Given the description of an element on the screen output the (x, y) to click on. 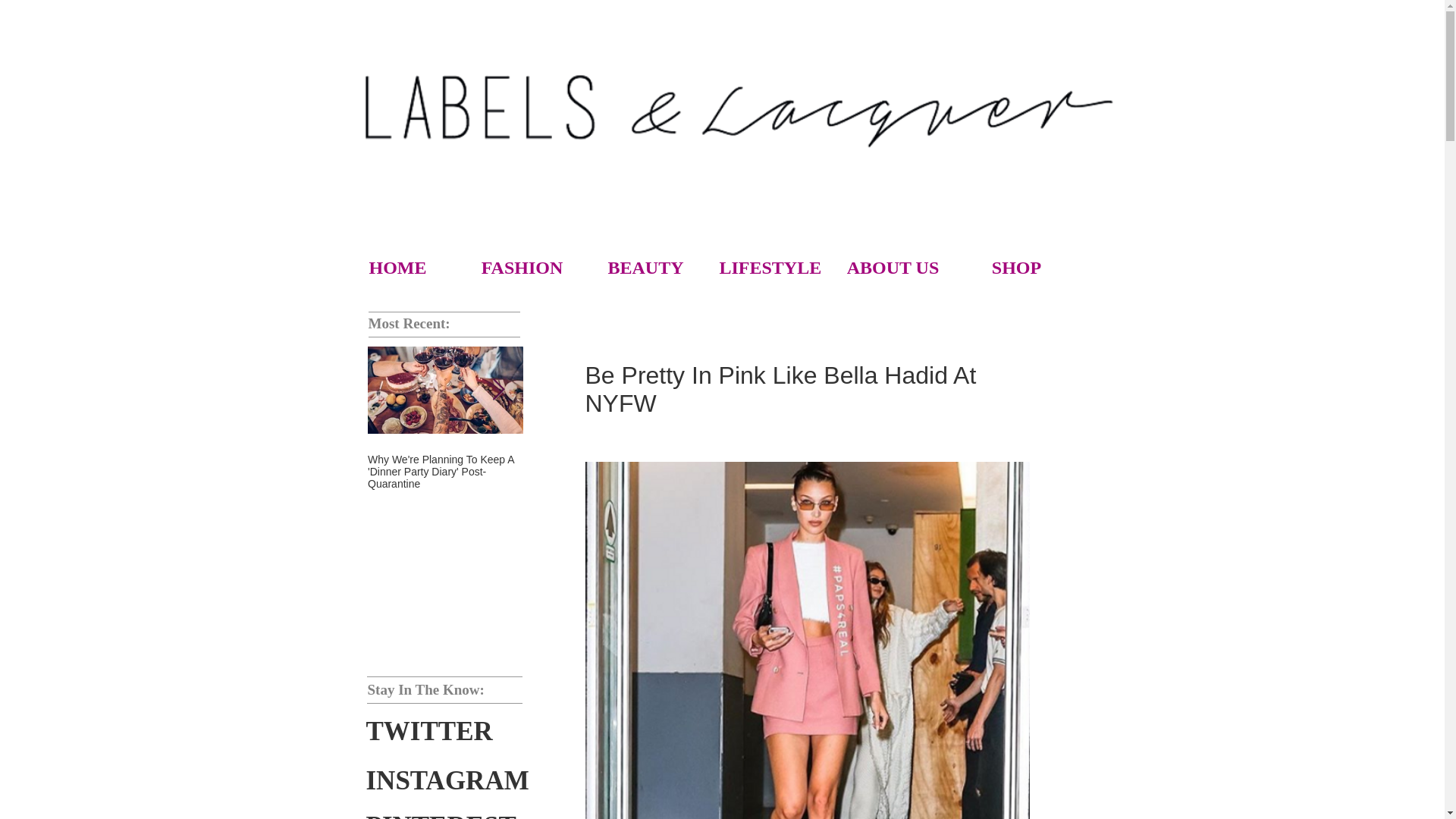
Take A Trip From Home With These Tropical Smoothies (600, 465)
SHOP (1016, 267)
PINTEREST (440, 812)
HOME (397, 267)
TWITTER (428, 731)
INSTAGRAM (446, 780)
ABOUT US (892, 267)
FASHION (522, 267)
LIFESTYLE (769, 267)
